Given the description of an element on the screen output the (x, y) to click on. 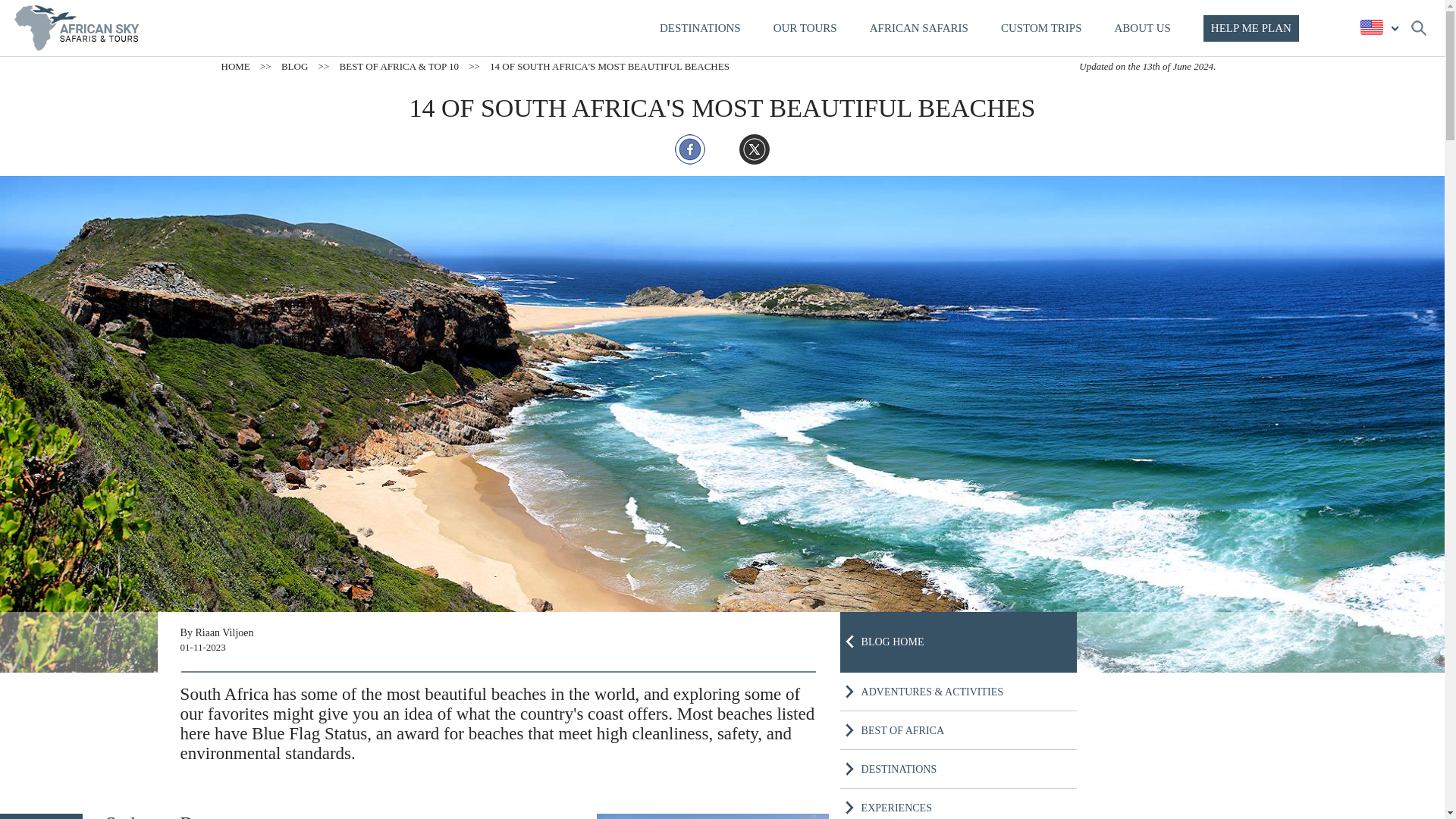
BLOG HOME (892, 641)
HELP ME PLAN (1251, 28)
BLOG (294, 66)
HOME (235, 66)
EXPERIENCES (896, 808)
DESTINATIONS (899, 768)
ABOUT US (1141, 28)
OUR TOURS (805, 28)
DESTINATIONS (700, 28)
AFRICAN SAFARIS (918, 28)
CUSTOM TRIPS (1041, 28)
BEST OF AFRICA (902, 730)
